Given the description of an element on the screen output the (x, y) to click on. 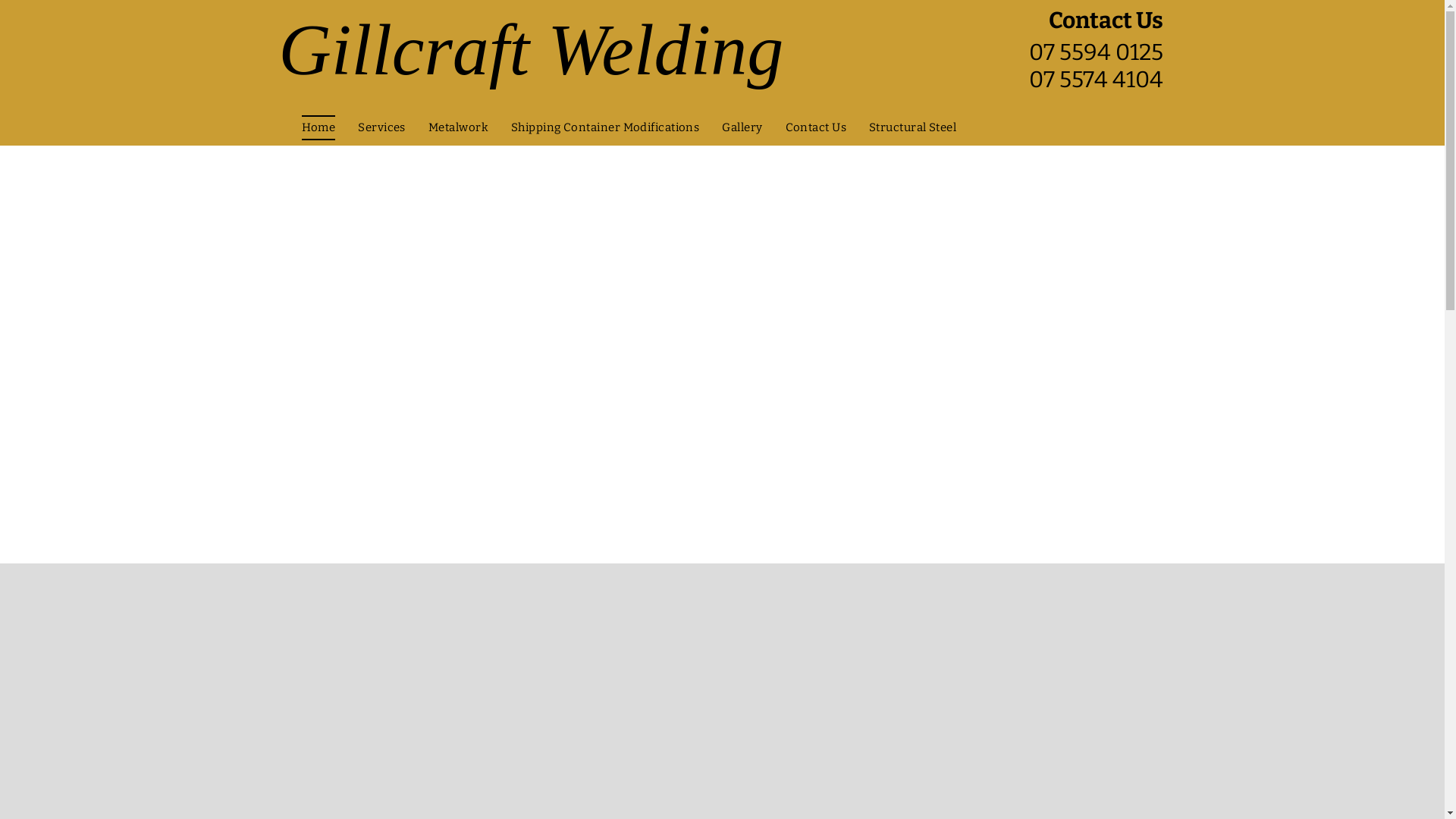
07 5594 0 Element type: text (1079, 54)
Services Element type: text (381, 127)
Structural Steel Element type: text (912, 127)
Shipping Container Modifications Element type: text (604, 127)
Metalwork Element type: text (458, 127)
Home Element type: text (317, 127)
Gallery Element type: text (741, 127)
Contact Us Element type: text (816, 127)
